Given the description of an element on the screen output the (x, y) to click on. 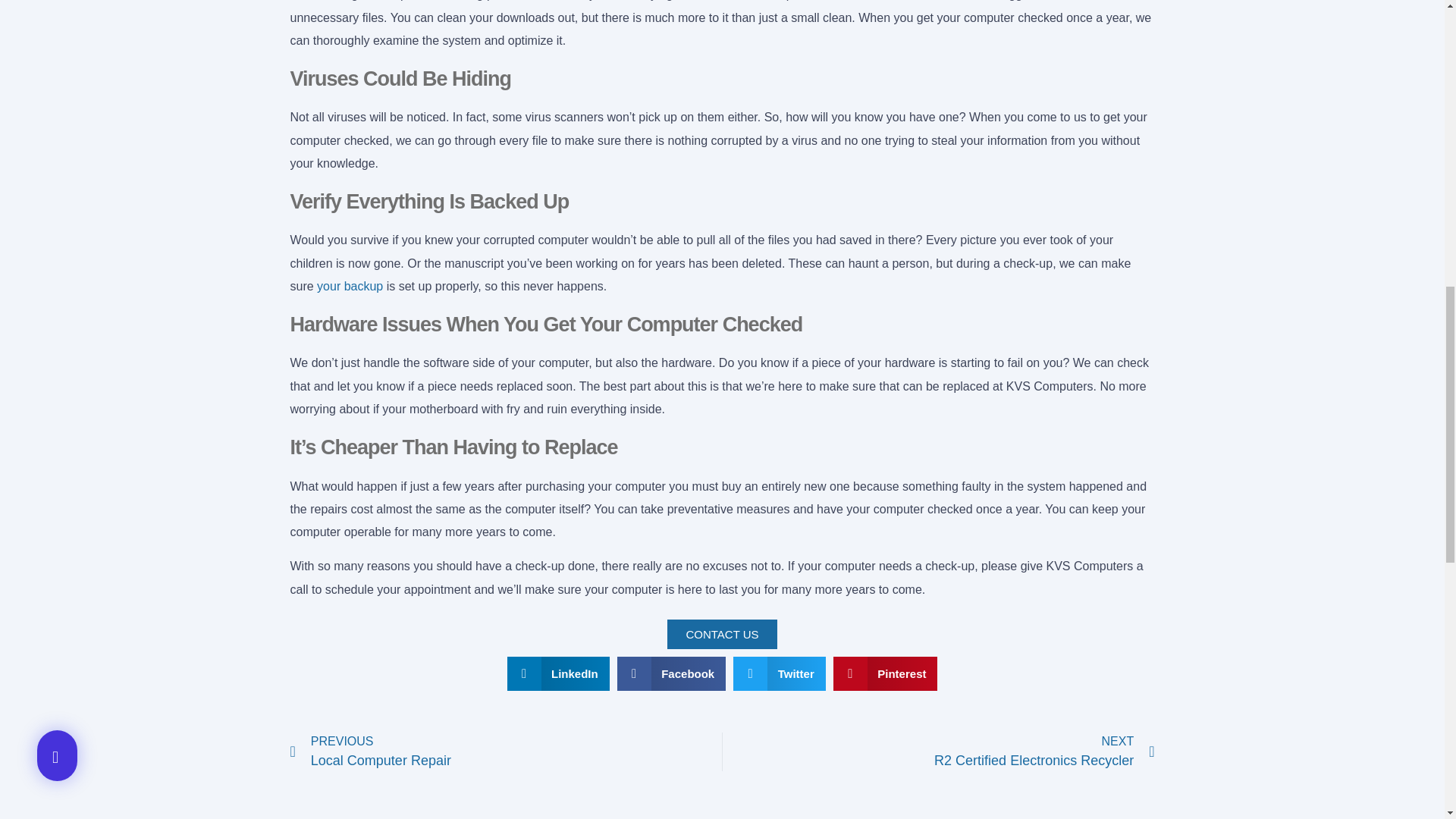
your backup (349, 286)
CONTACT US (505, 751)
